Given the description of an element on the screen output the (x, y) to click on. 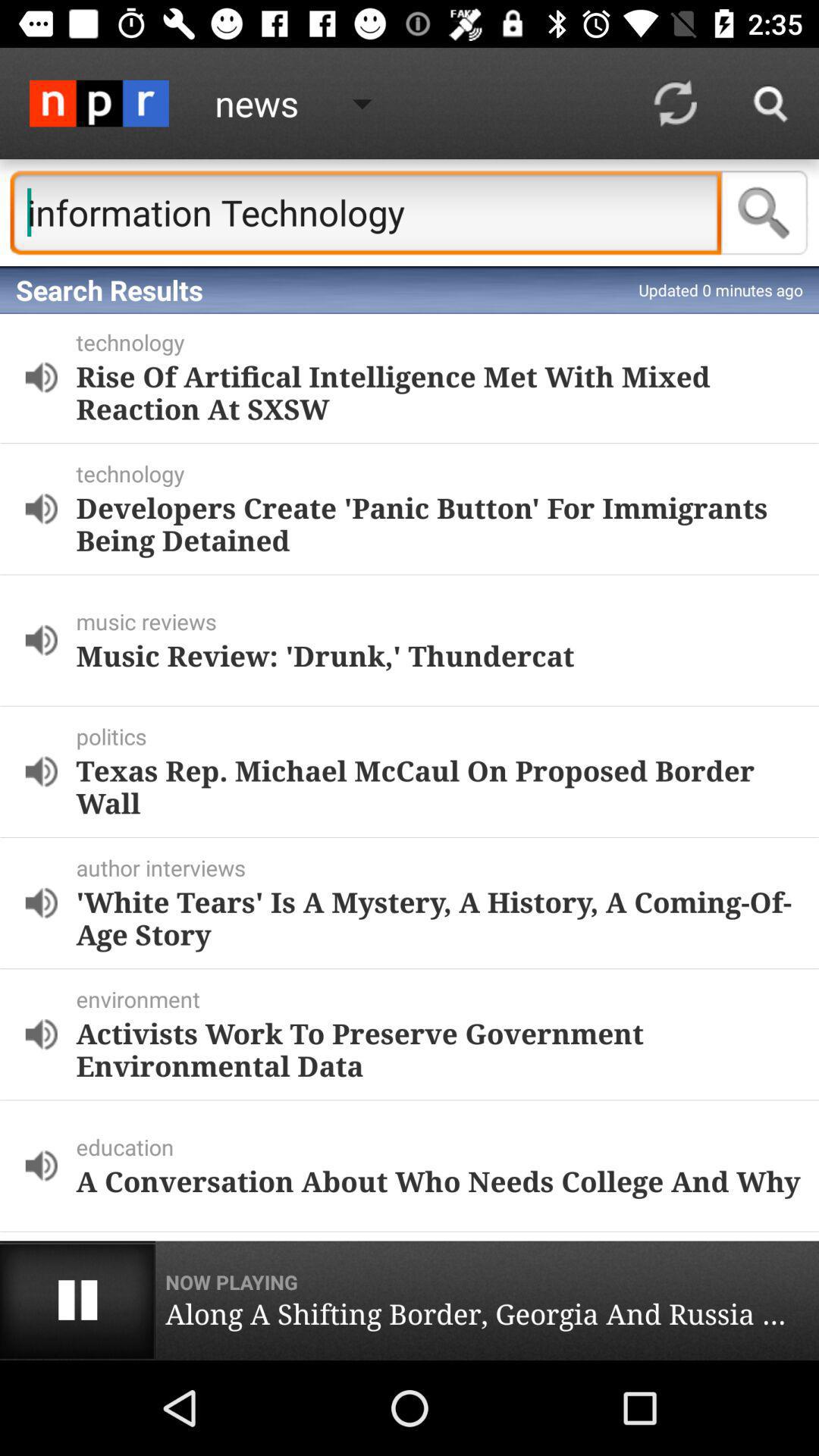
select the icon below the activists work to icon (444, 1146)
